Given the description of an element on the screen output the (x, y) to click on. 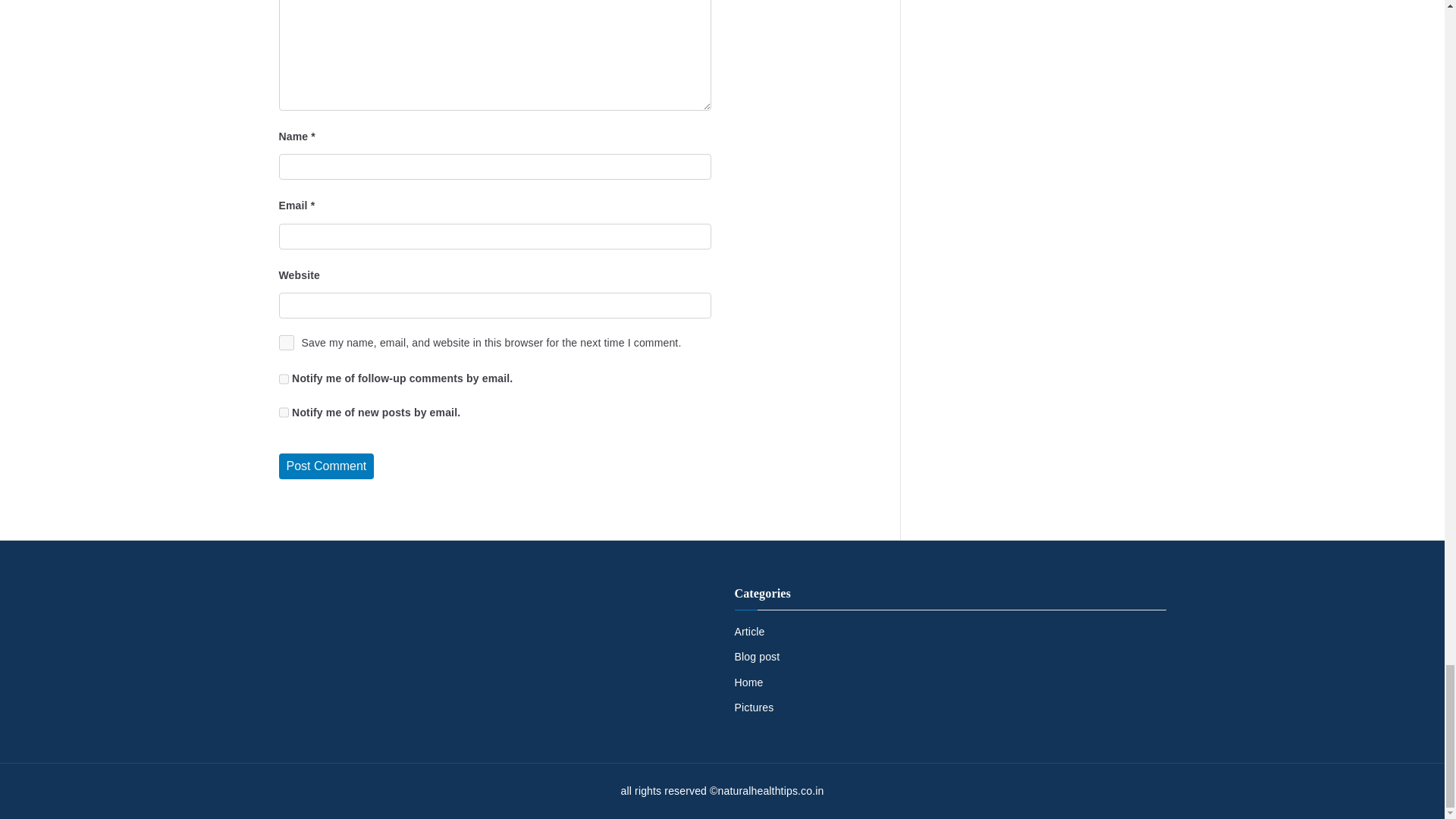
yes (286, 342)
Post Comment (326, 466)
Post Comment (326, 466)
